Given the description of an element on the screen output the (x, y) to click on. 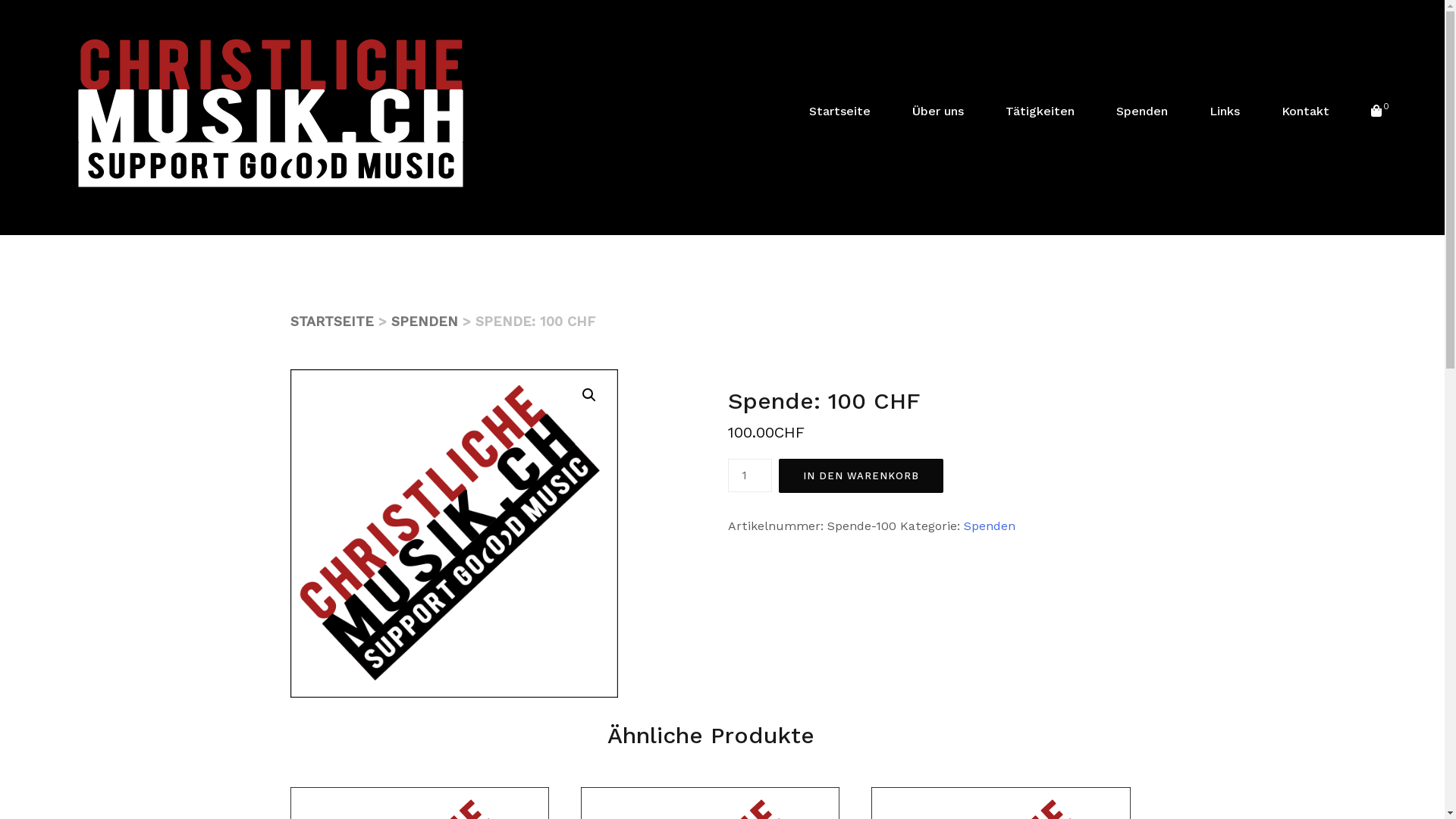
STARTSEITE Element type: text (331, 321)
SPENDEN Element type: text (424, 321)
0 Element type: text (1379, 110)
IN DEN WARENKORB Element type: text (860, 475)
Startseite Element type: text (839, 111)
Spenden Element type: text (1141, 111)
Kontakt Element type: text (1305, 111)
Links Element type: text (1224, 111)
ChristlichemusikIcon1 Element type: hover (453, 533)
Spenden Element type: text (989, 525)
